Given the description of an element on the screen output the (x, y) to click on. 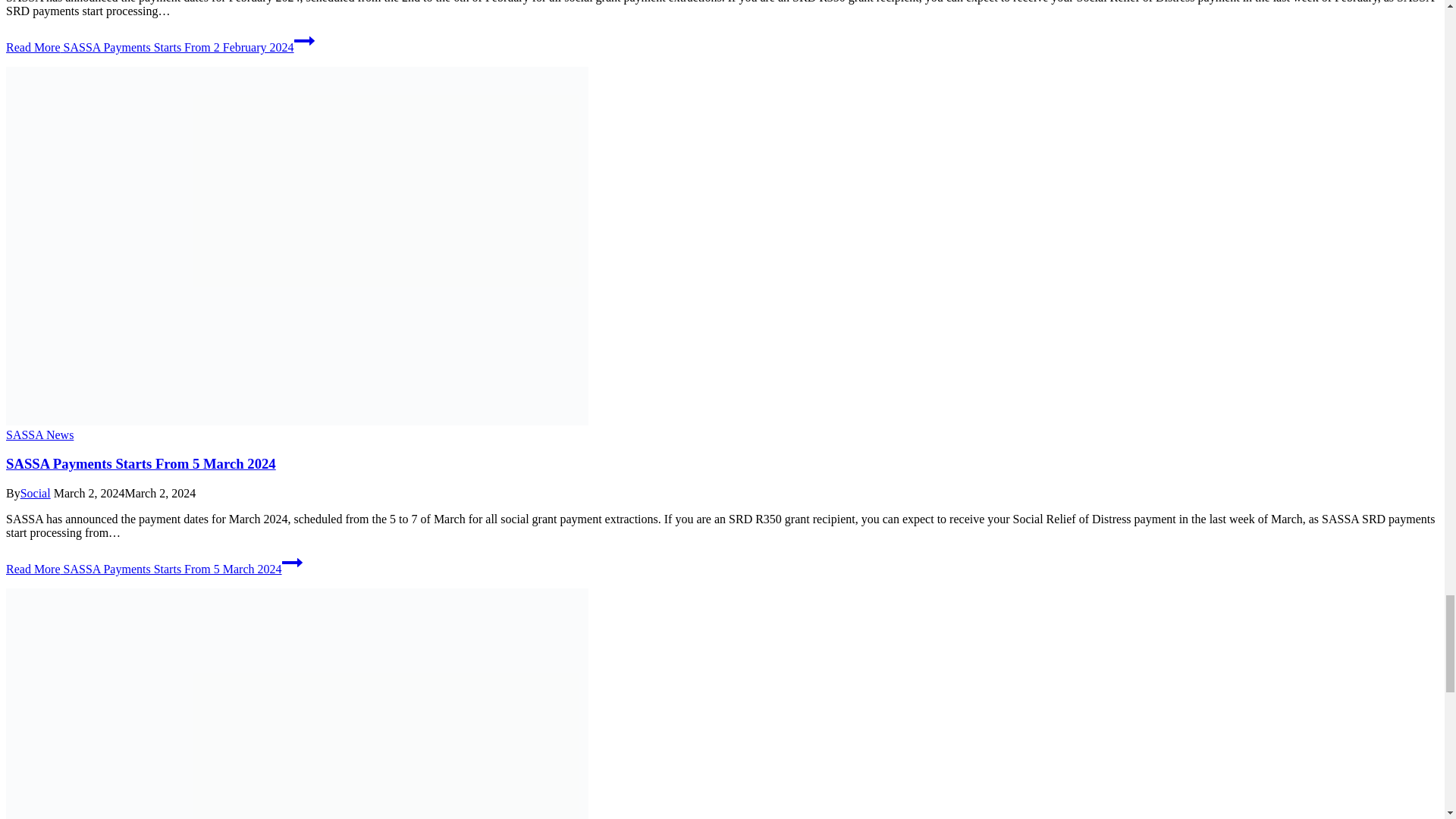
Continue (304, 40)
Continue (292, 562)
